Given the description of an element on the screen output the (x, y) to click on. 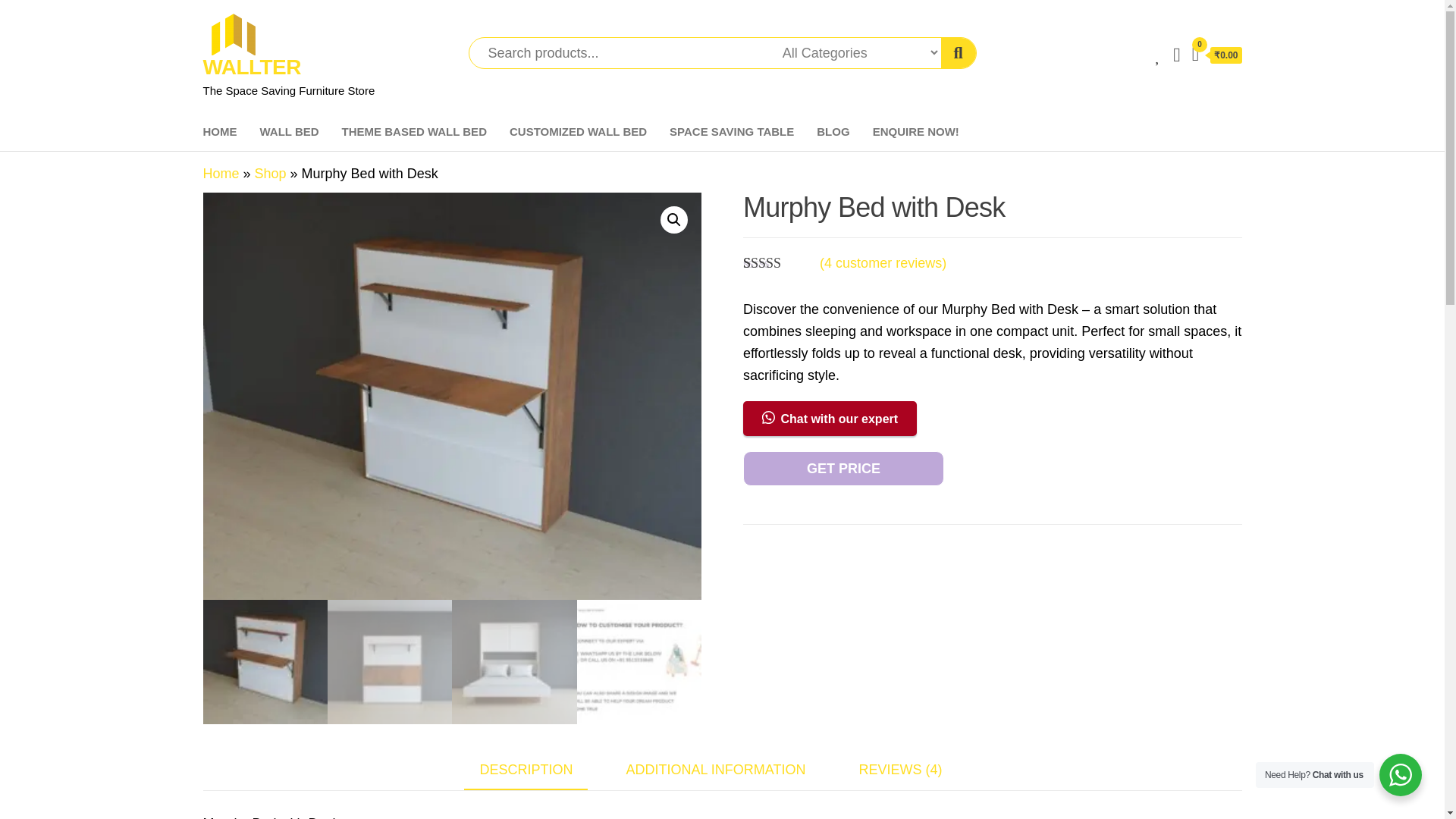
CUSTOMIZED WALL BED (577, 131)
THEME BASED WALL BED (413, 131)
SPACE SAVING TABLE (731, 131)
CUSTOMIZED WALL BED (577, 131)
BLOG (832, 131)
WALLTER (252, 66)
Chat with our expert (829, 418)
SPACE SAVING TABLE (731, 131)
WALL BED (289, 131)
